Given the description of an element on the screen output the (x, y) to click on. 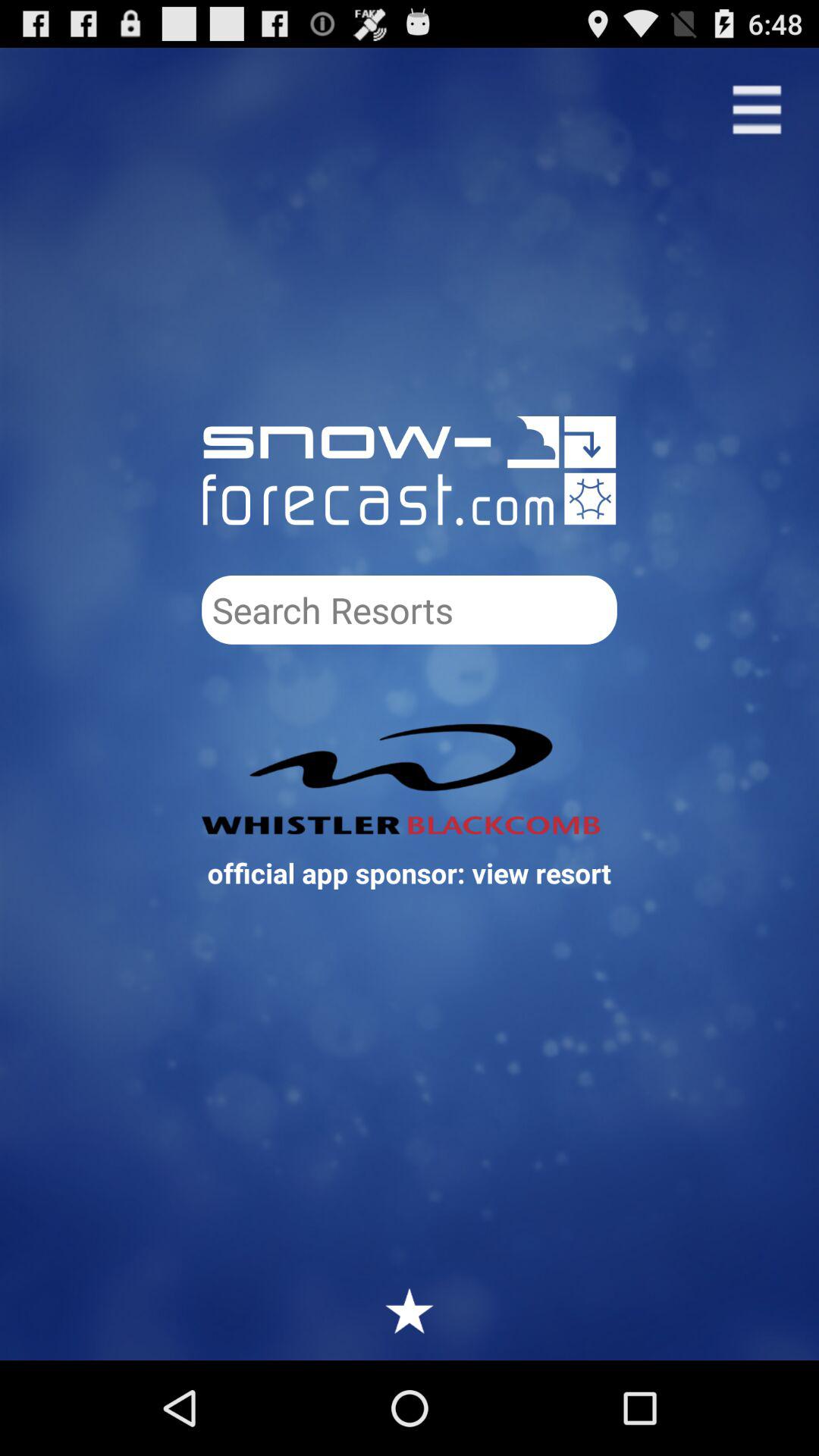
star (409, 1310)
